Given the description of an element on the screen output the (x, y) to click on. 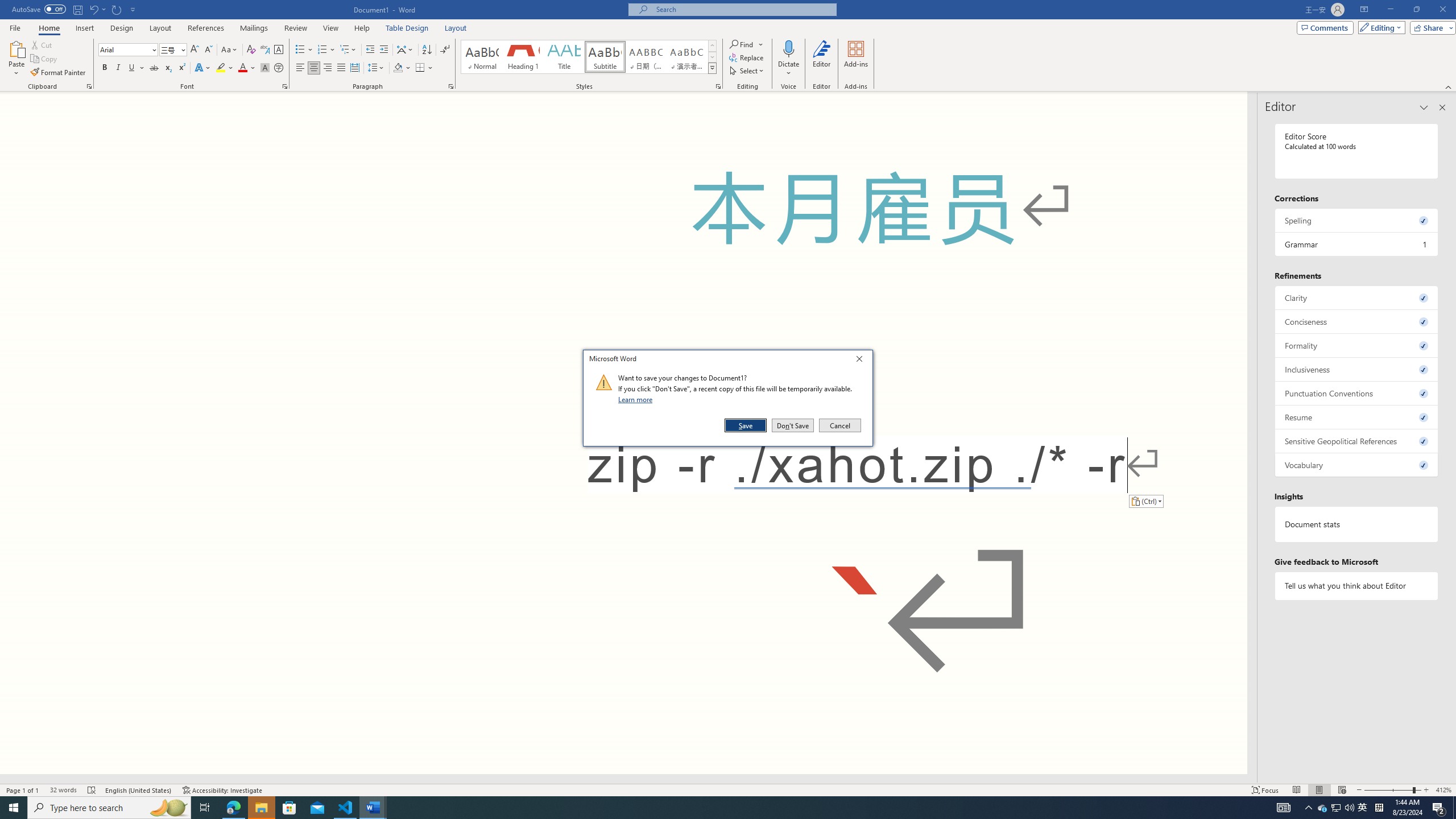
Undo Paste (92, 9)
Page Number Page 1 of 1 (22, 790)
